Given the description of an element on the screen output the (x, y) to click on. 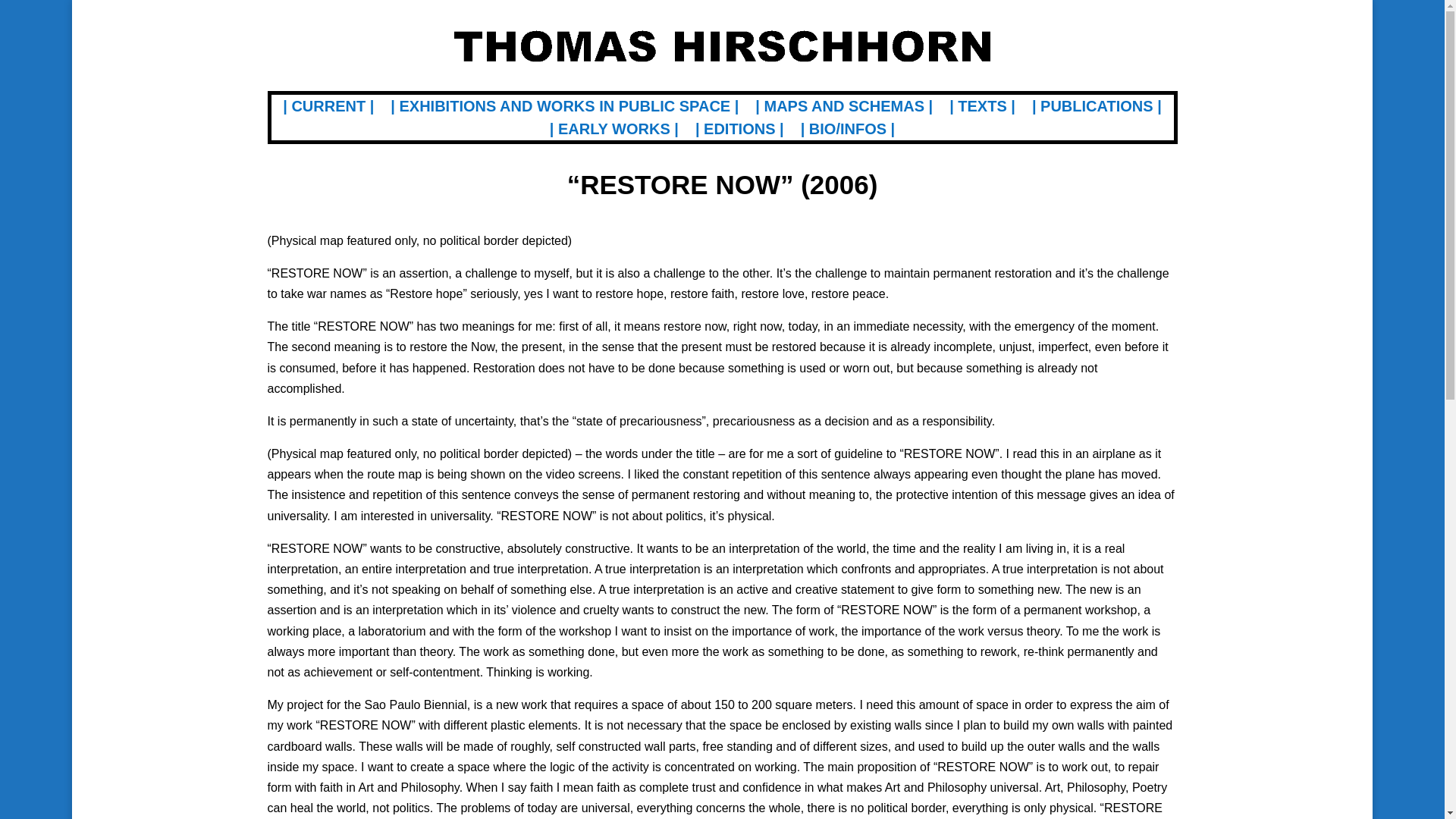
LOGO (721, 45)
